Given the description of an element on the screen output the (x, y) to click on. 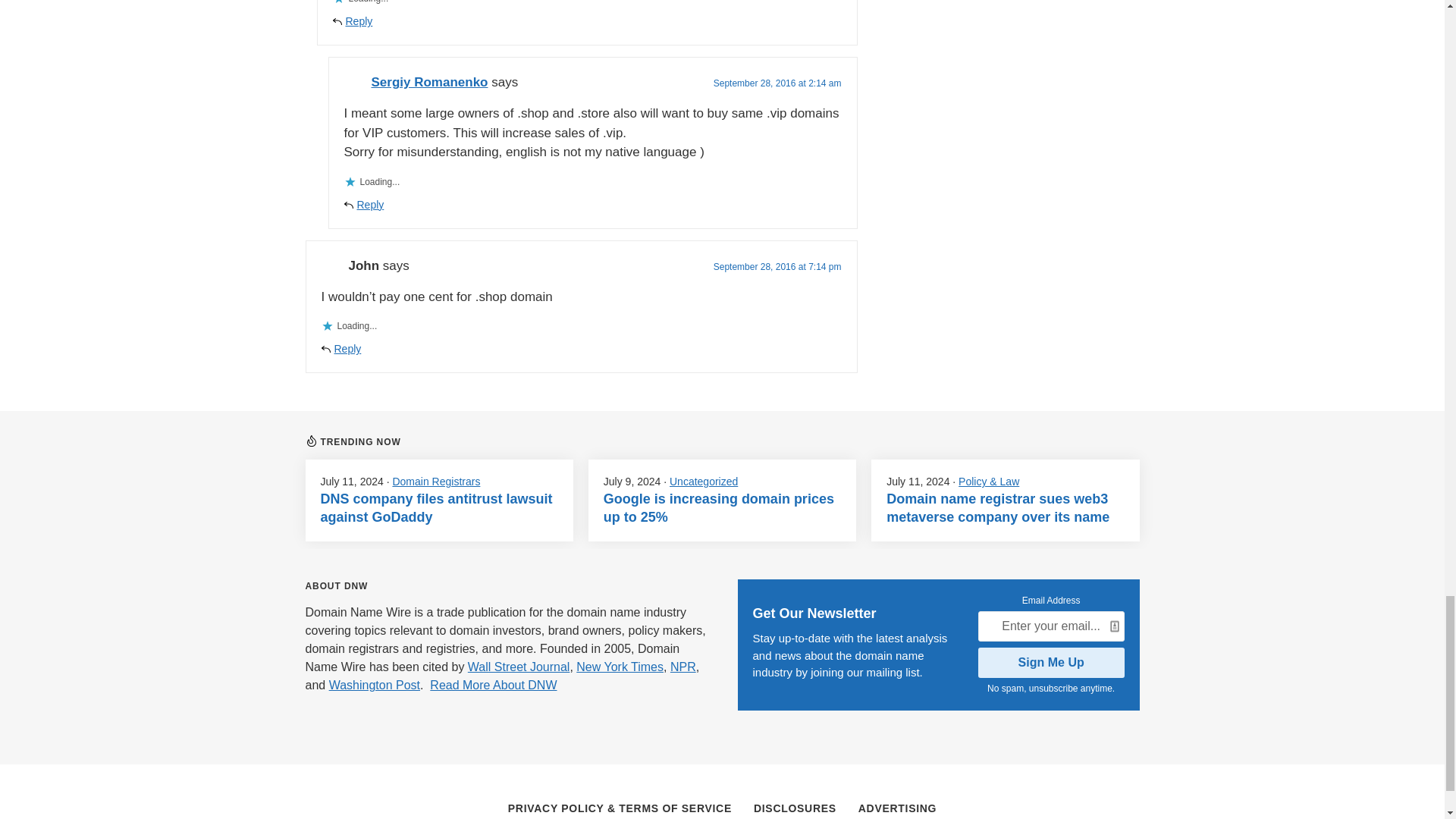
Sign Me Up (1051, 662)
